Given the description of an element on the screen output the (x, y) to click on. 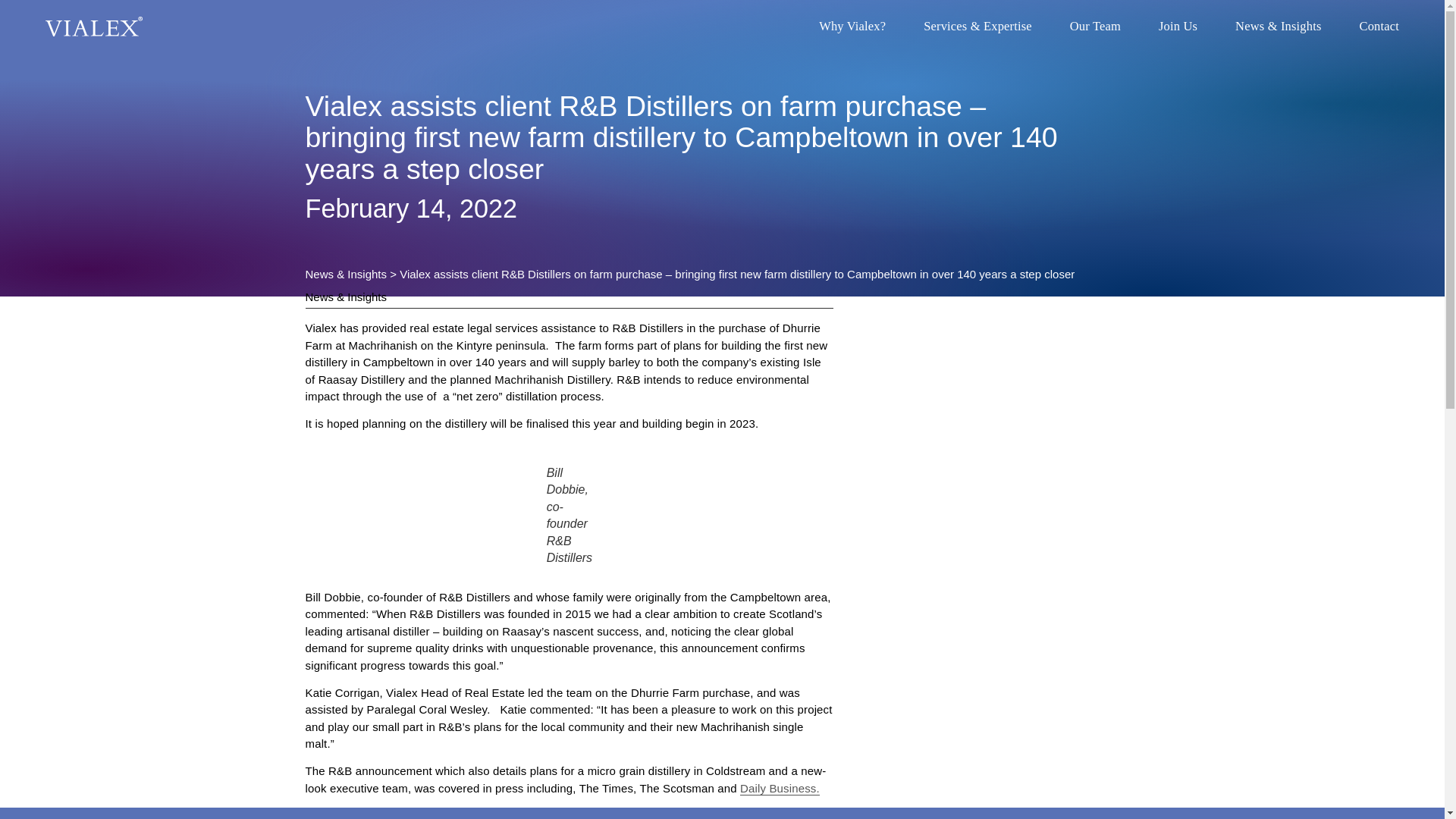
Join Us (1177, 26)
Daily Business. (779, 788)
Our Team (1095, 26)
Why Vialex? (851, 26)
Contact (1379, 26)
